Given the description of an element on the screen output the (x, y) to click on. 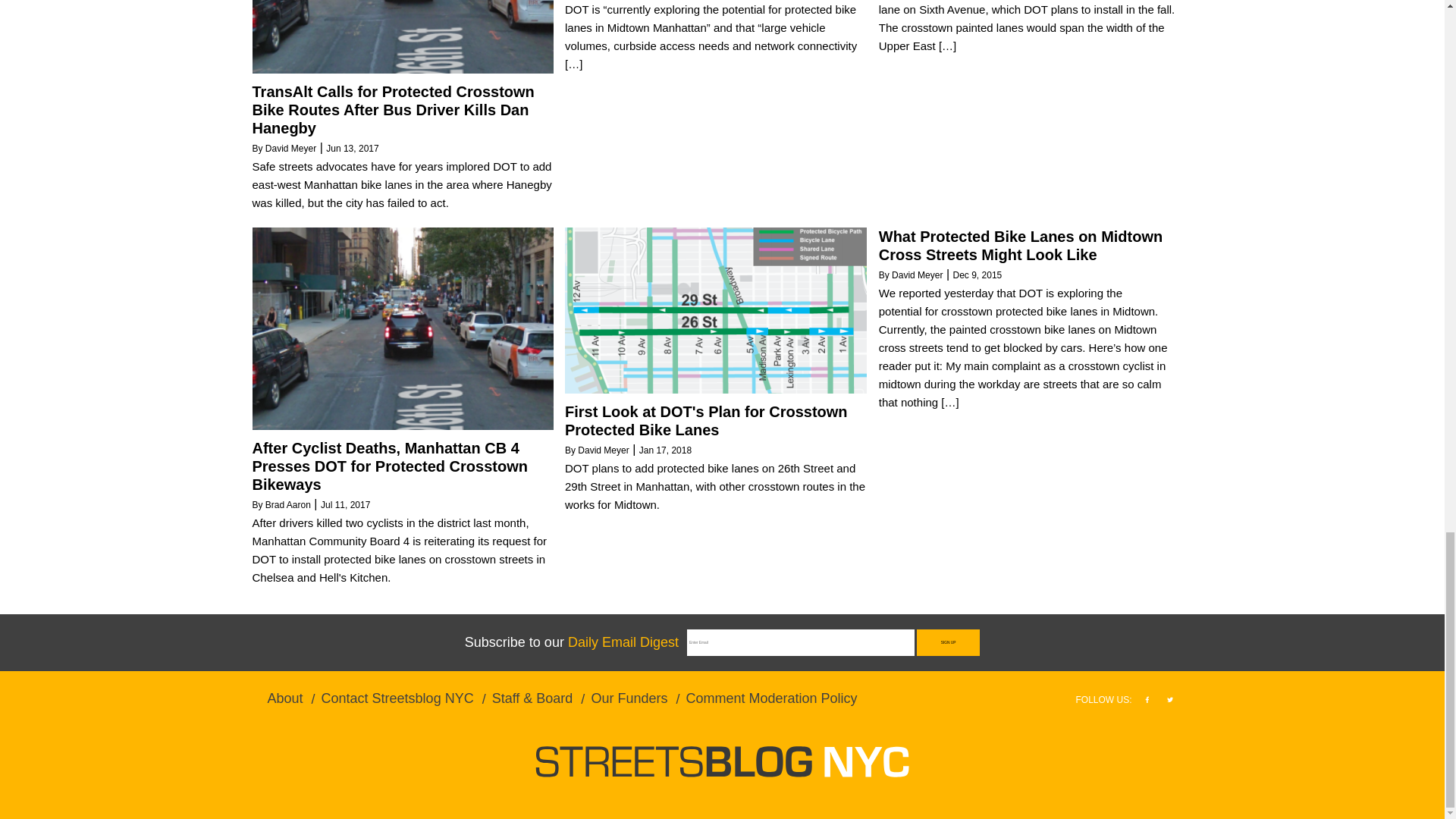
Streetsblog NYC Logo (721, 761)
